Given the description of an element on the screen output the (x, y) to click on. 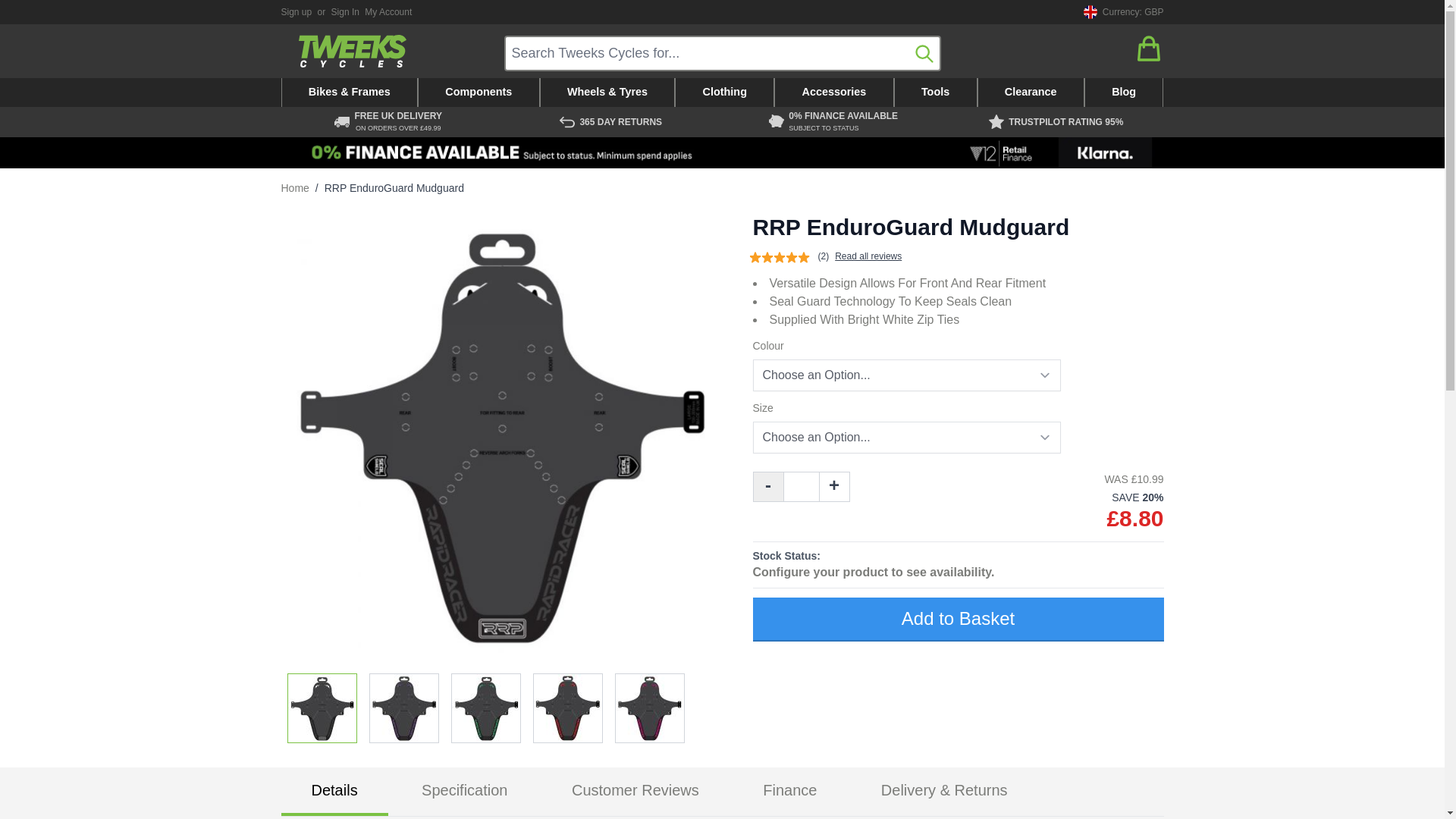
Finance (722, 152)
Components (478, 92)
My Account (388, 11)
Tweeks Cycles (352, 51)
Cart (1147, 48)
Search (923, 52)
Currency: GBP (1120, 12)
Go to Home Page (294, 187)
Sign In (345, 11)
Tweeks Cycles (352, 51)
Sign up (296, 11)
